Given the description of an element on the screen output the (x, y) to click on. 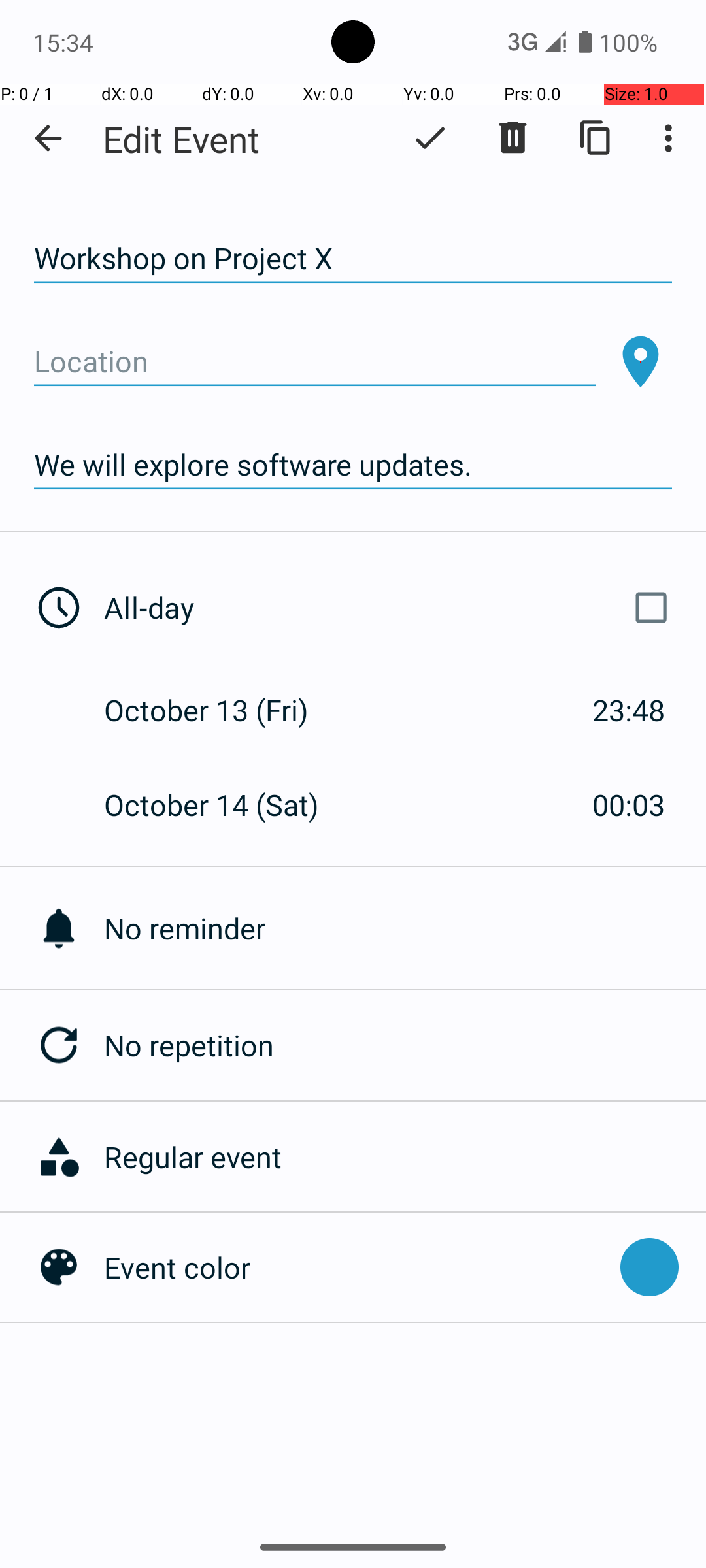
Edit Event Element type: android.widget.TextView (181, 138)
Save Element type: android.widget.Button (429, 137)
Duplicate event Element type: android.widget.Button (595, 137)
Workshop on Project X Element type: android.widget.EditText (352, 258)
Location Element type: android.widget.EditText (314, 361)
We will explore software updates. Element type: android.widget.EditText (352, 465)
October 13 (Fri) Element type: android.widget.TextView (219, 709)
23:48 Element type: android.widget.TextView (628, 709)
October 14 (Sat) Element type: android.widget.TextView (224, 804)
00:03 Element type: android.widget.TextView (628, 804)
No reminder Element type: android.widget.TextView (404, 927)
No repetition Element type: android.widget.TextView (404, 1044)
All-day Element type: android.widget.CheckBox (390, 607)
Regular event Element type: android.widget.TextView (397, 1156)
Event color Element type: android.widget.TextView (354, 1266)
